Given the description of an element on the screen output the (x, y) to click on. 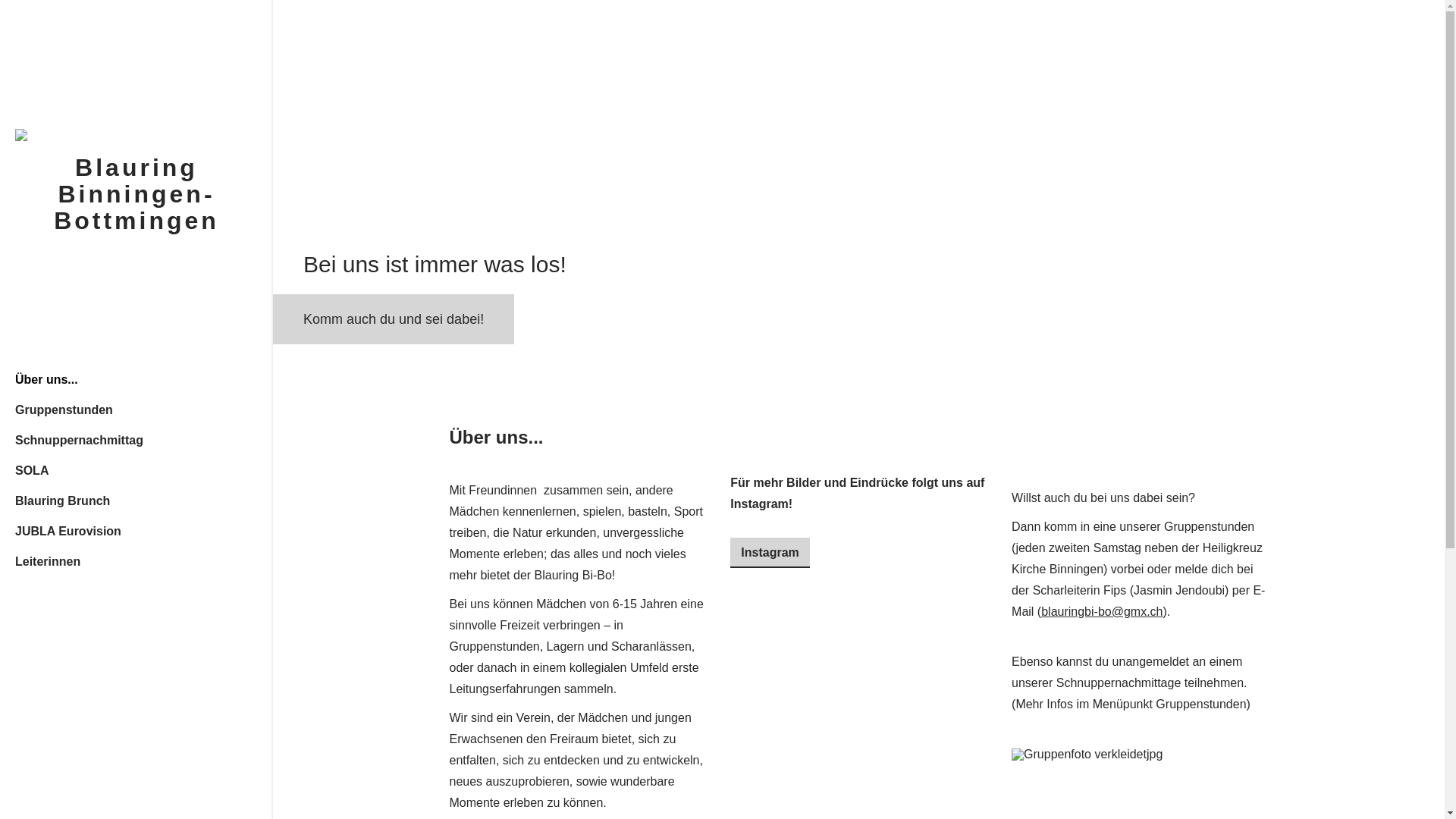
Schnuppernachmittag Element type: text (136, 439)
Instagram Element type: text (769, 552)
JUBLA Eurovision Element type: text (136, 530)
Blauring Binningen-Bottmingen Element type: hover (136, 134)
Blauring Binningen-Bottmingen Element type: text (136, 193)
SOLA Element type: text (136, 470)
Gruppenstunden Element type: text (136, 409)
Blauring Brunch Element type: text (136, 500)
Leiterinnen Element type: text (136, 561)
